Given the description of an element on the screen output the (x, y) to click on. 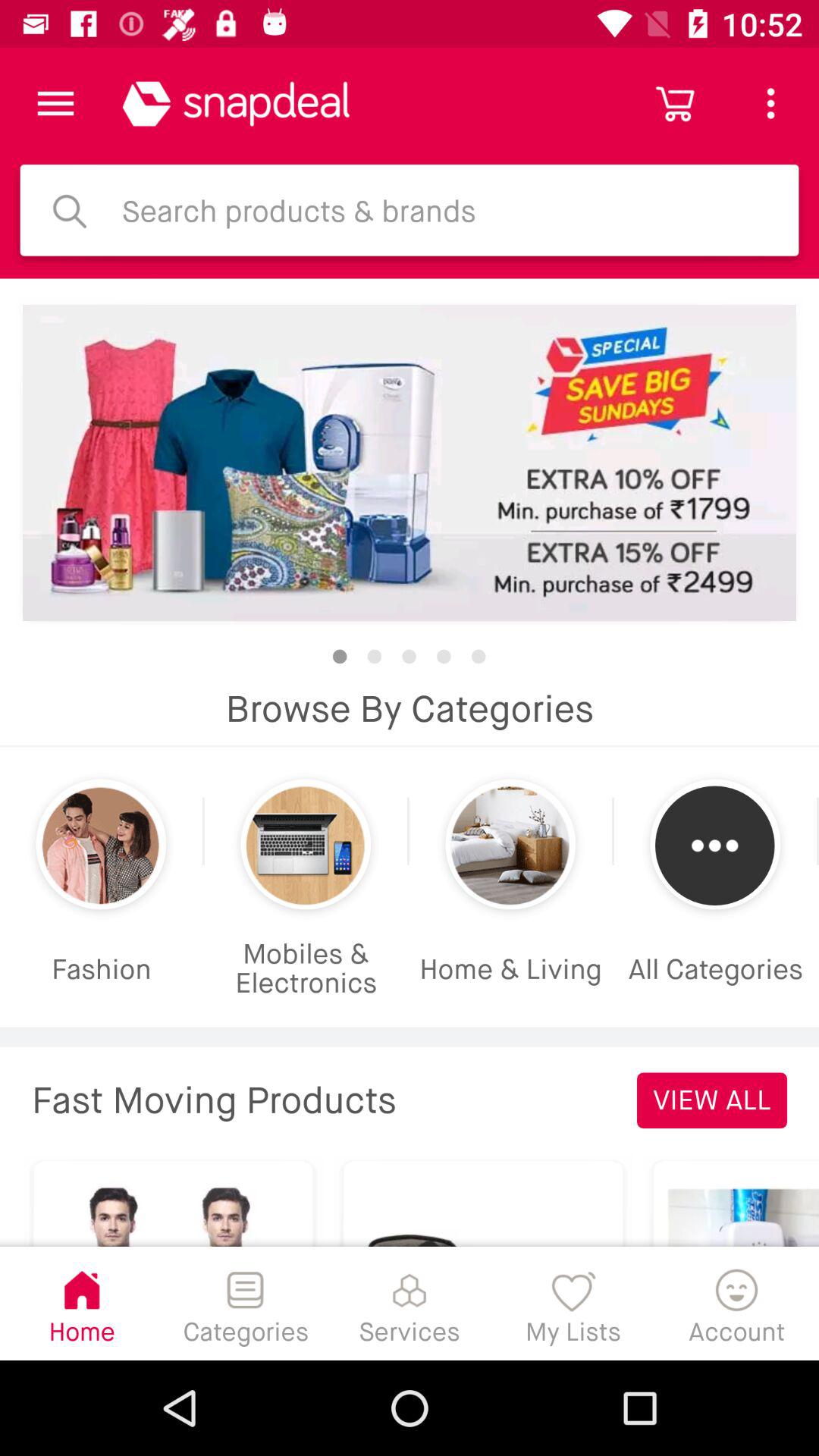
turn off icon to the left of account item (573, 1303)
